Given the description of an element on the screen output the (x, y) to click on. 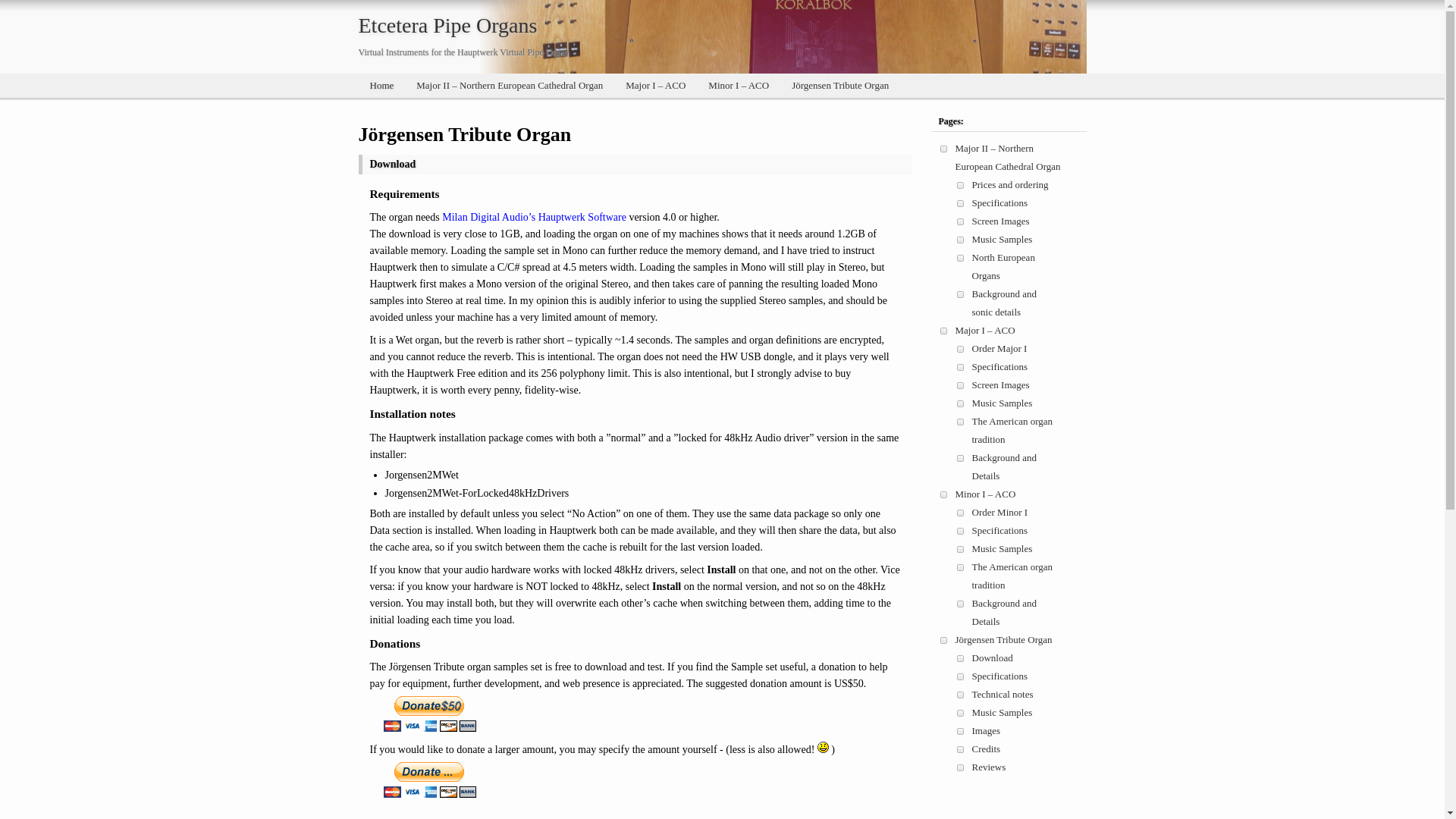
Specifications Element type: text (1000, 366)
Order Minor I Element type: text (1000, 511)
Music Samples Element type: text (1002, 402)
Music Samples Element type: text (1002, 238)
Background and Details Element type: text (1004, 612)
Specifications Element type: text (1000, 530)
Background and sonic details Element type: text (1004, 302)
Order Major I Element type: text (999, 348)
Images Element type: text (986, 730)
Background and Details Element type: text (1004, 466)
Music Samples Element type: text (1002, 548)
North European Organs Element type: text (1003, 266)
Download Element type: text (992, 657)
Reviews Element type: text (989, 766)
The American organ tradition Element type: text (1012, 430)
Specifications Element type: text (1000, 675)
Screen Images Element type: text (1000, 220)
Screen Images Element type: text (1000, 384)
Technical notes Element type: text (1002, 693)
Home Element type: text (380, 85)
Music Samples Element type: text (1002, 712)
The American organ tradition Element type: text (1012, 575)
Credits Element type: text (986, 748)
Prices and ordering Element type: text (1010, 184)
Etcetera Pipe Organs Element type: text (446, 25)
Specifications Element type: text (1000, 202)
